Given the description of an element on the screen output the (x, y) to click on. 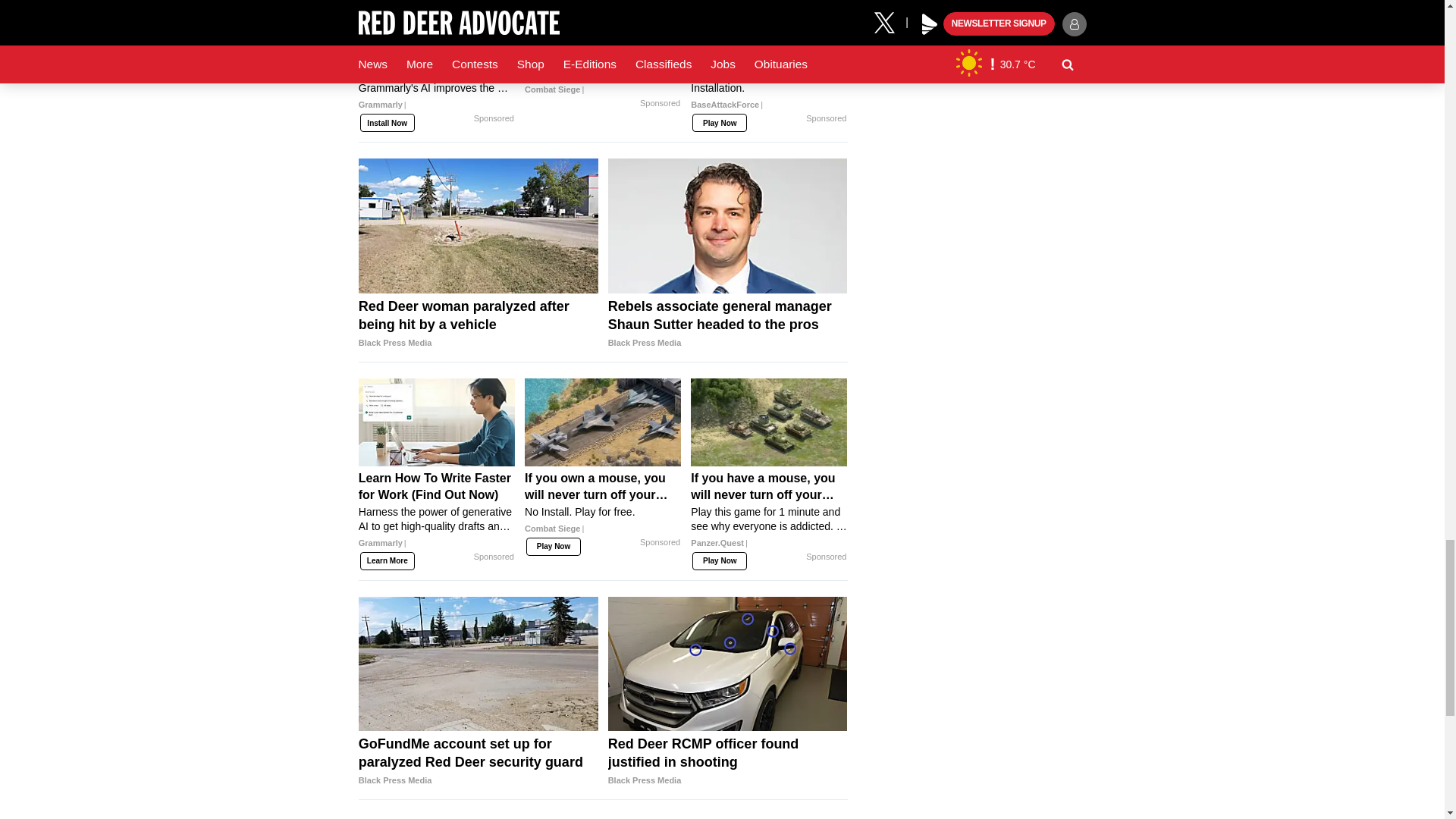
What is your writing missing? (436, 13)
What is your writing missing? (436, 76)
